Given the description of an element on the screen output the (x, y) to click on. 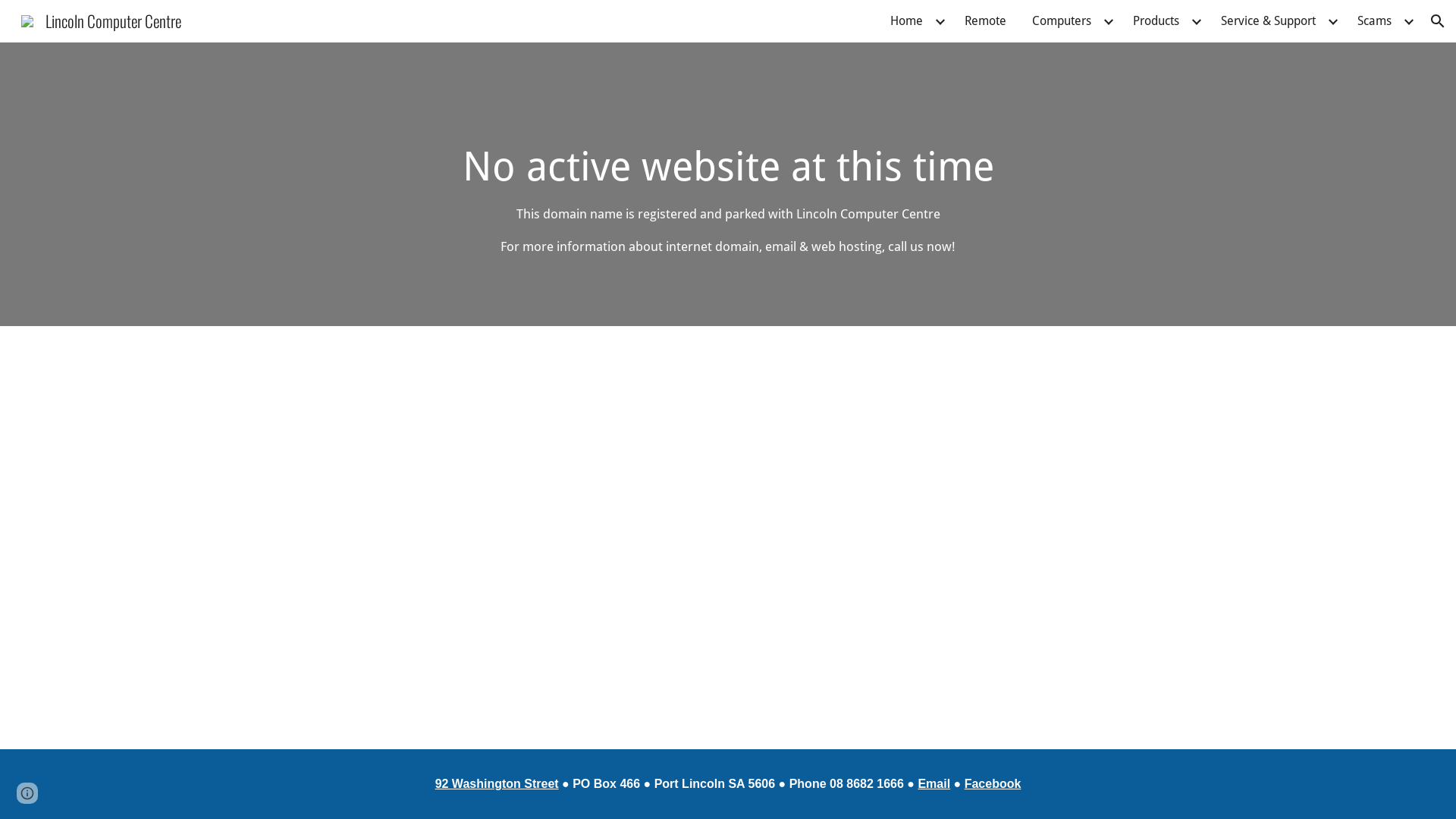
Expand/Collapse Element type: hover (1408, 20)
92 Washington Street Element type: text (496, 782)
Expand/Collapse Element type: hover (1195, 20)
Expand/Collapse Element type: hover (1107, 20)
Lincoln Computer Centre Element type: text (101, 18)
Expand/Collapse Element type: hover (1332, 20)
Expand/Collapse Element type: hover (939, 20)
Remote Element type: text (985, 20)
Scams Element type: text (1374, 20)
Email Element type: text (933, 782)
Products Element type: text (1155, 20)
Home Element type: text (906, 20)
Computers Element type: text (1061, 20)
Facebook Element type: text (992, 782)
Service & Support Element type: text (1268, 20)
